Given the description of an element on the screen output the (x, y) to click on. 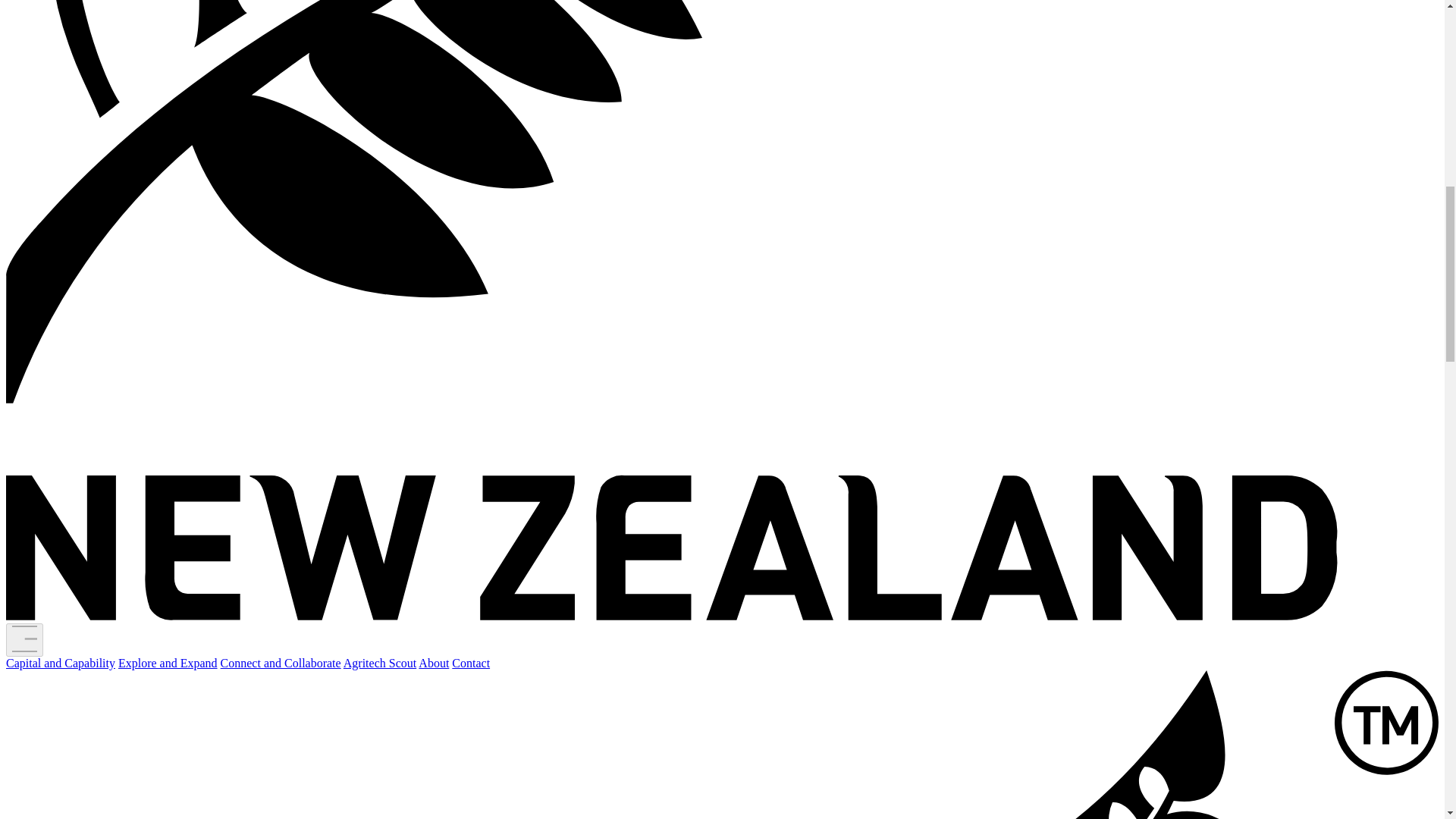
Agritech Scout (379, 662)
Connect and Collaborate (280, 662)
Capital and Capability (60, 662)
About (433, 662)
Explore and Expand (166, 662)
Menu (24, 639)
Contact (470, 662)
